Given the description of an element on the screen output the (x, y) to click on. 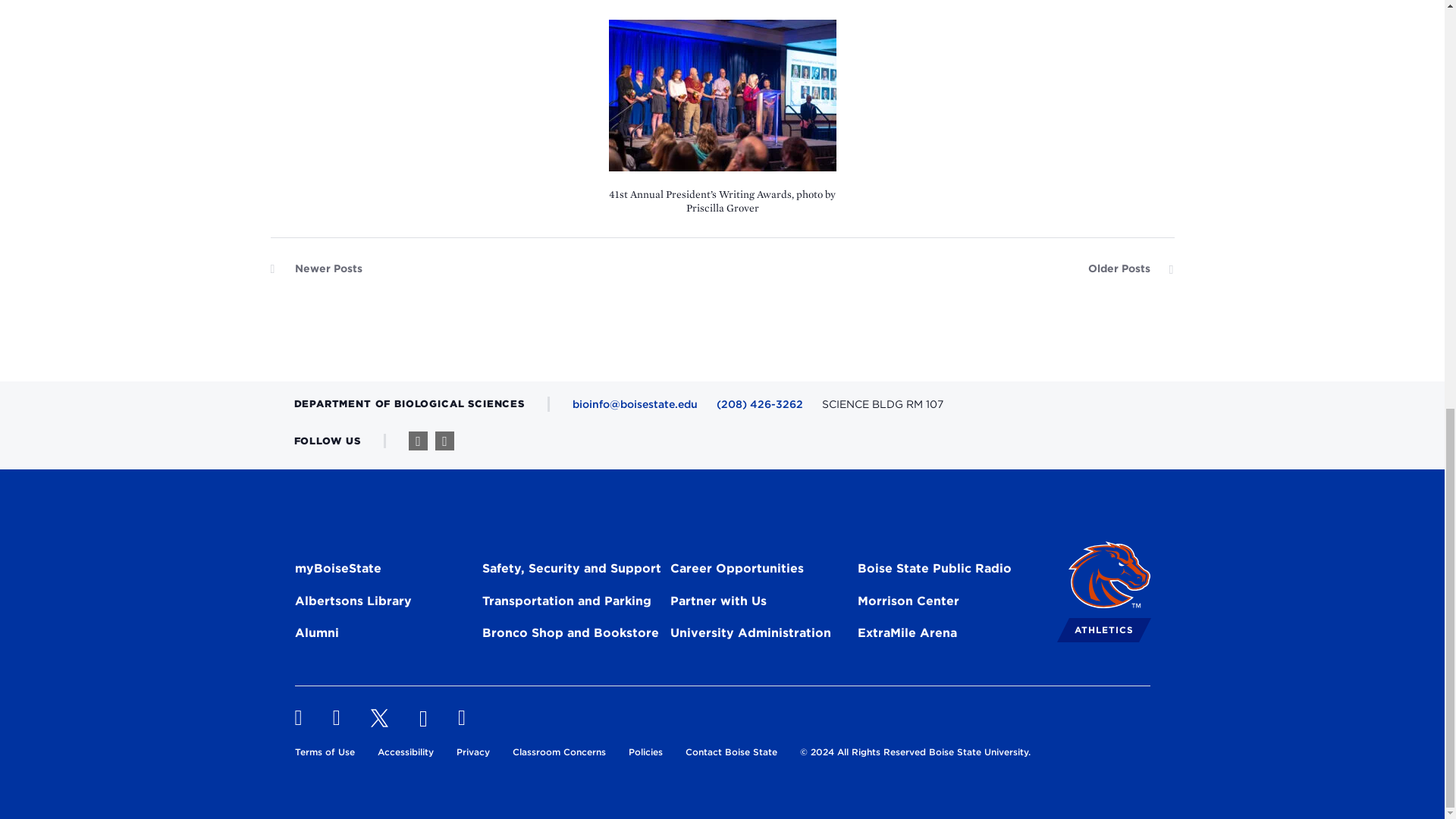
Older Posts (1130, 272)
Follow us on X (379, 718)
Safety, Security and Support (571, 570)
Follow us on Facebook (418, 440)
myBoiseState (337, 570)
Career Opportunities (736, 570)
Follow us on Instagram (444, 440)
Newer Posts (315, 272)
